Given the description of an element on the screen output the (x, y) to click on. 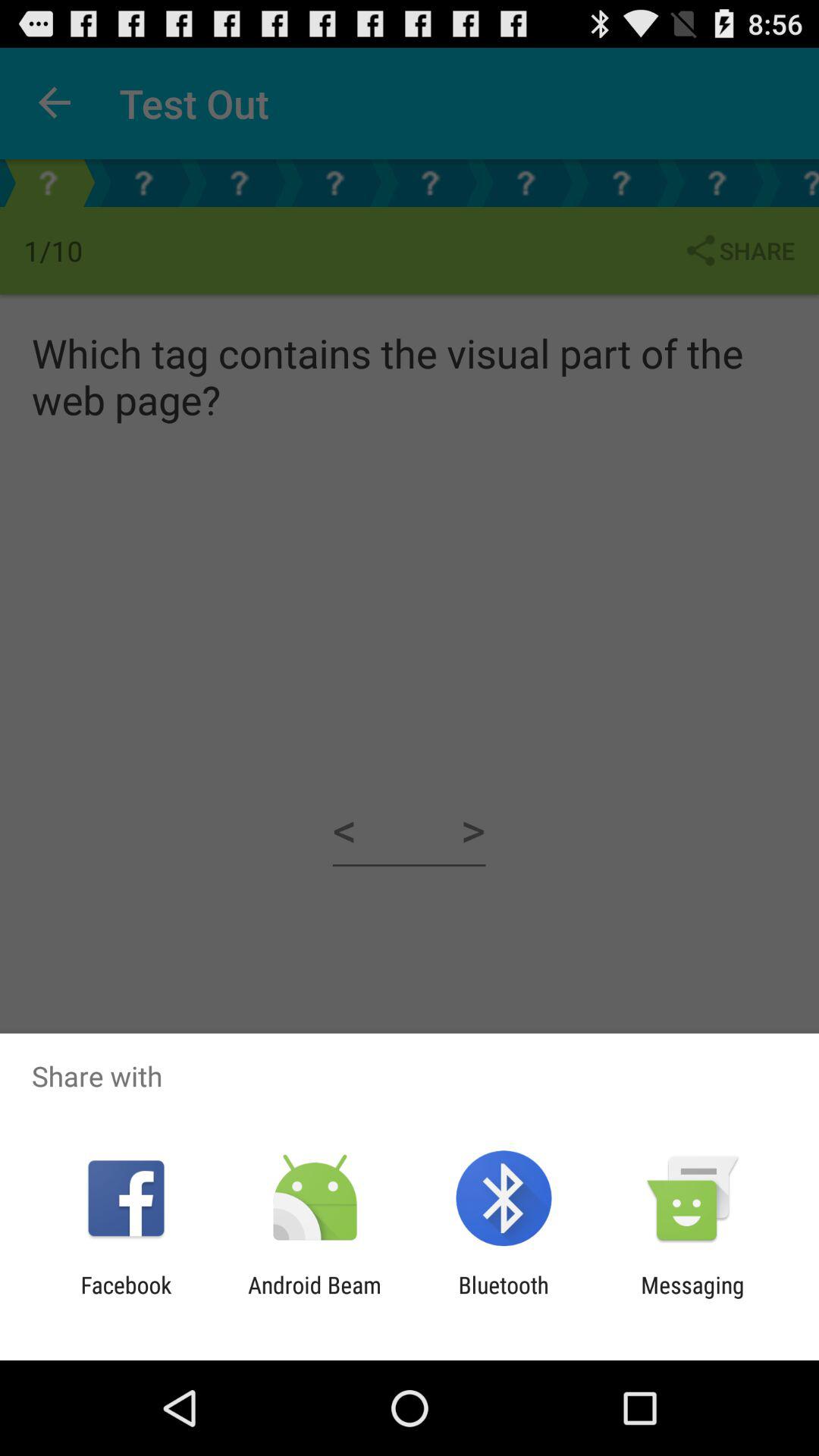
select bluetooth item (503, 1298)
